Given the description of an element on the screen output the (x, y) to click on. 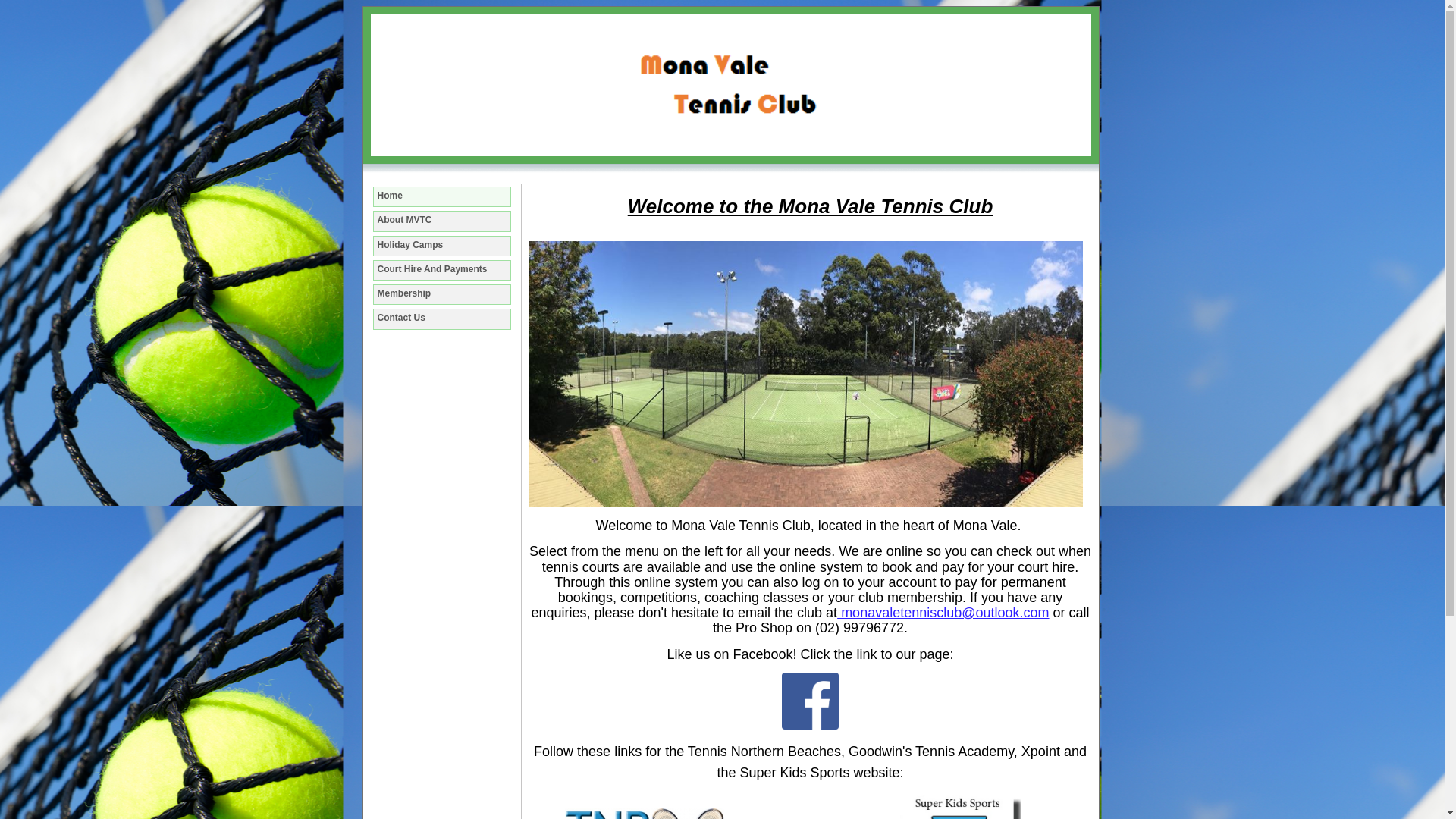
Contact Us Element type: text (437, 317)
Home Element type: text (389, 195)
monavaletennisclub@outlook.com Element type: text (942, 612)
Membership Element type: text (437, 293)
Holiday Camps Element type: text (437, 244)
Court Hire And Payments Element type: text (437, 269)
About MVTC Element type: text (437, 219)
